Given the description of an element on the screen output the (x, y) to click on. 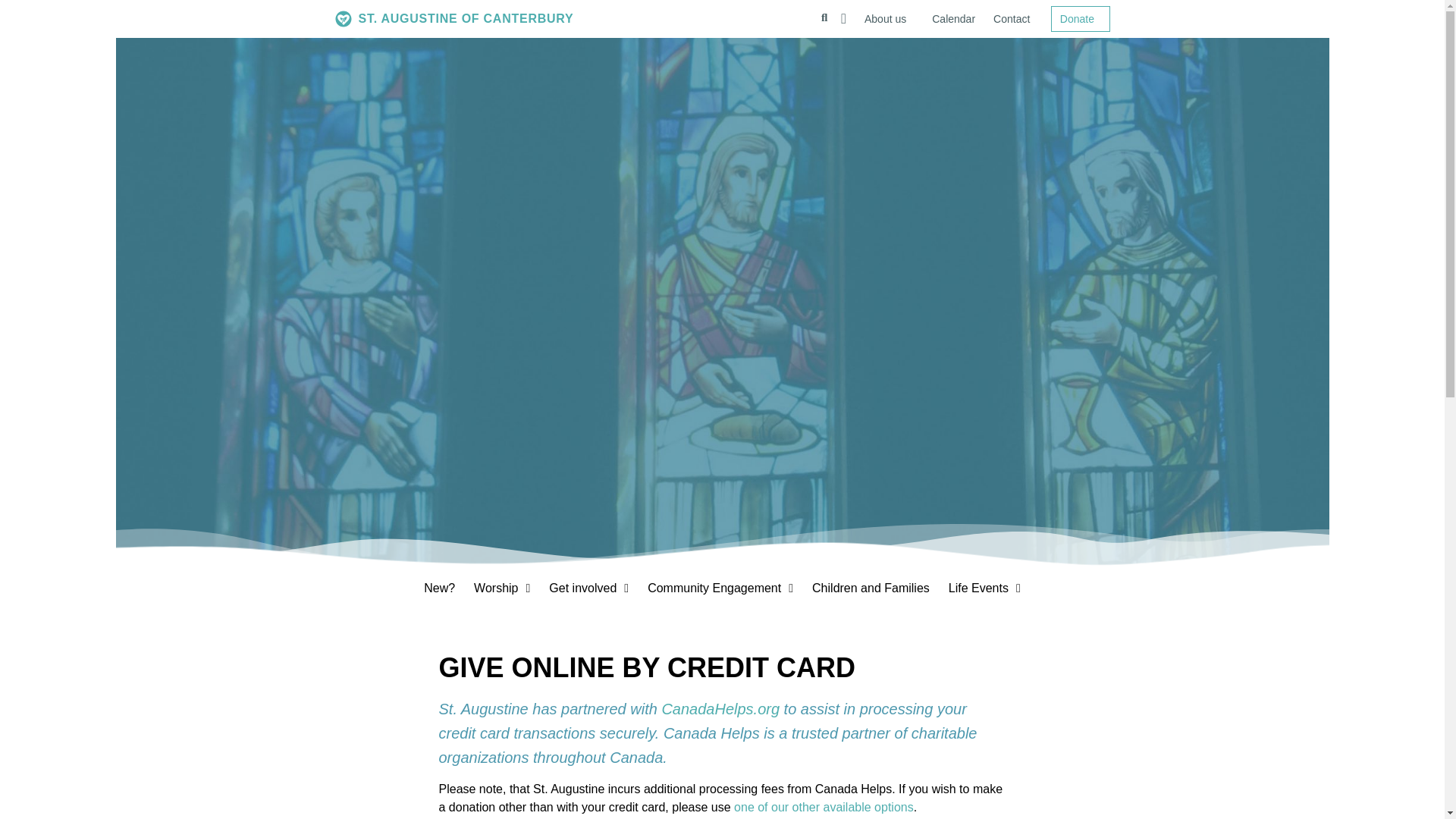
Contact (1015, 18)
Calendar (953, 18)
About us (889, 18)
ST. AUGUSTINE OF CANTERBURY (489, 18)
Donate (1080, 18)
